Given the description of an element on the screen output the (x, y) to click on. 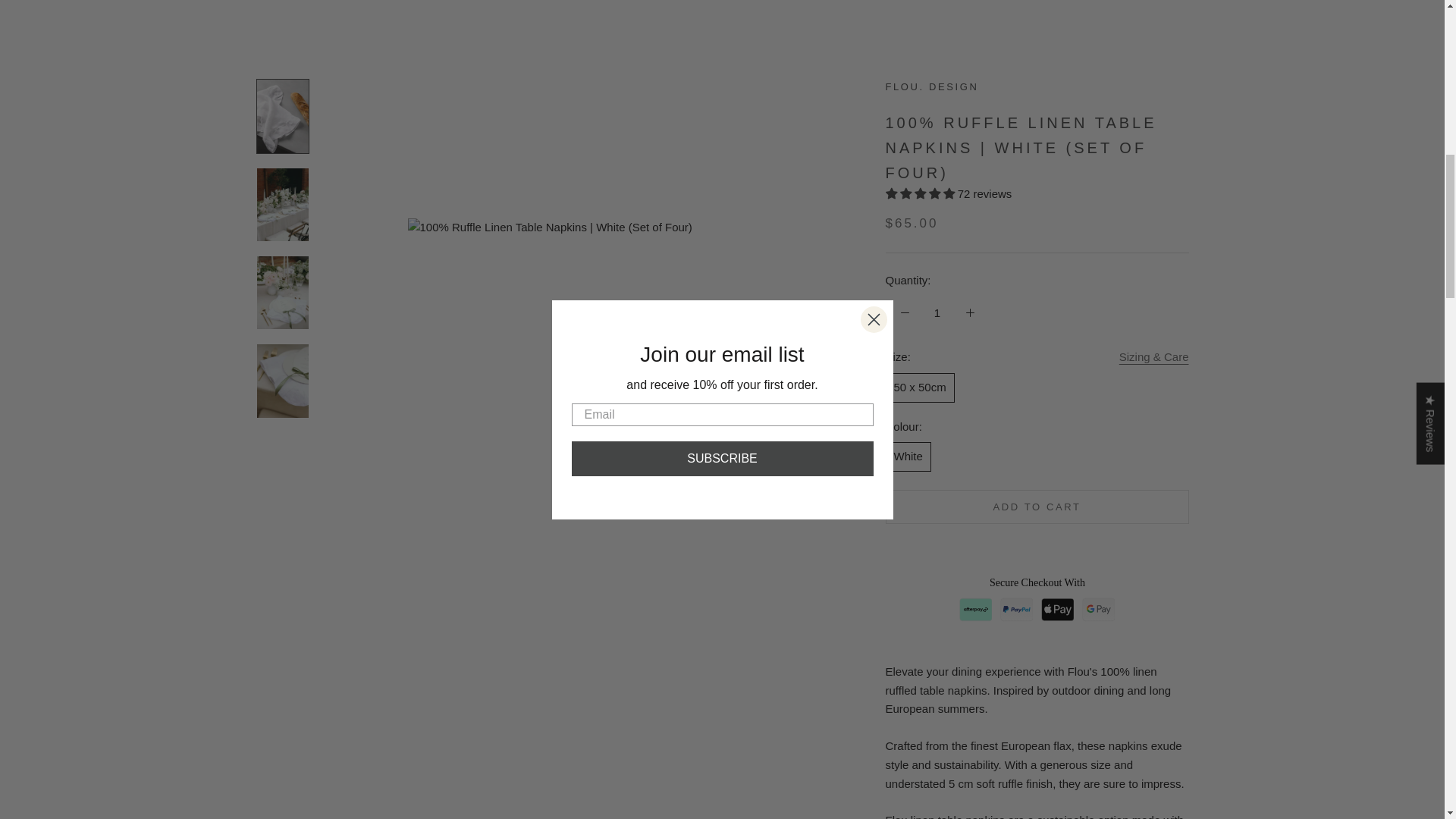
trust-badges-widget (1037, 184)
